Given the description of an element on the screen output the (x, y) to click on. 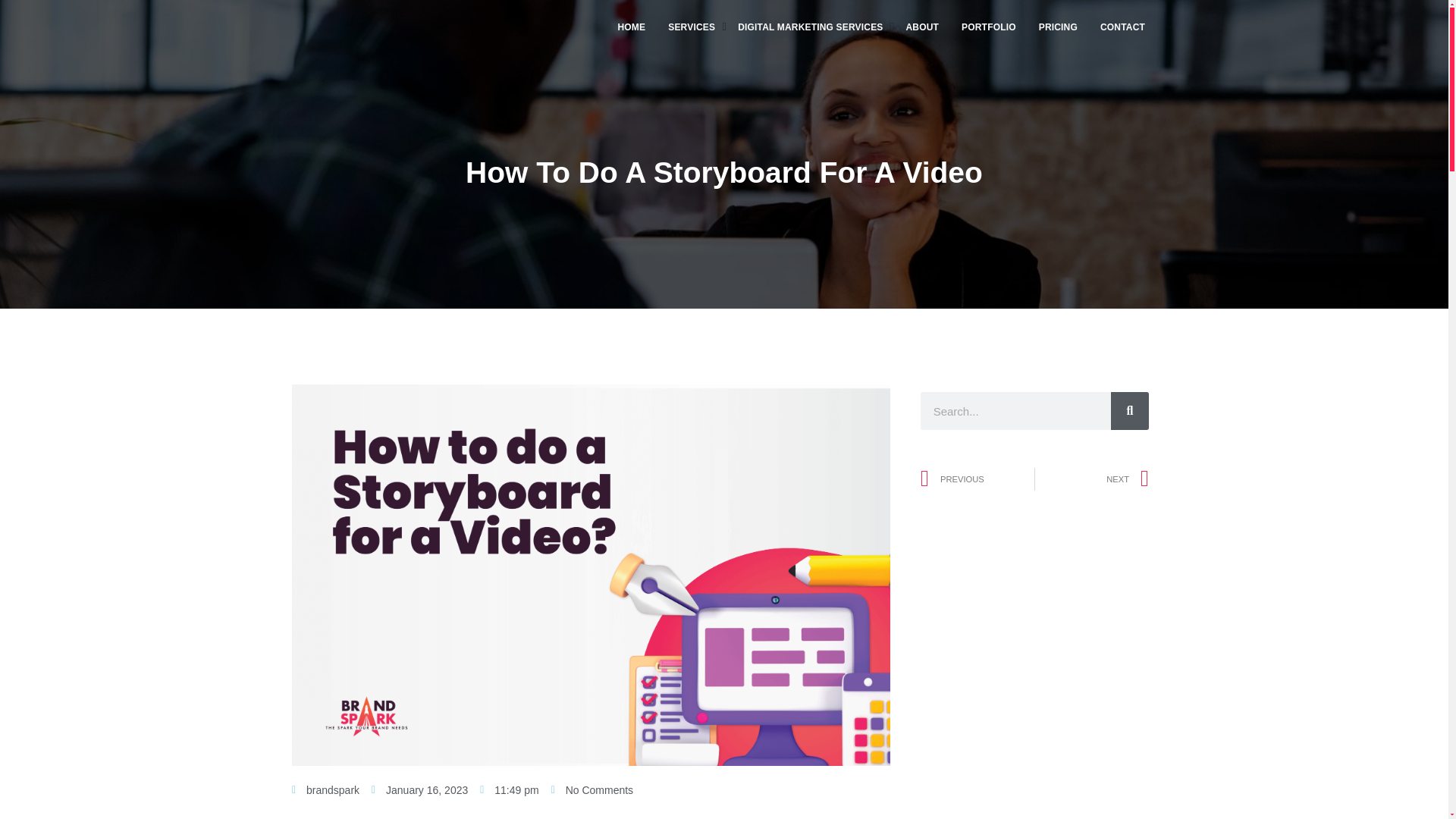
No Comments (592, 790)
PREVIOUS (976, 478)
NEXT (1091, 478)
PORTFOLIO (988, 27)
DIGITAL MARKETING SERVICES (810, 27)
January 16, 2023 (419, 790)
brandspark (325, 790)
